Given the description of an element on the screen output the (x, y) to click on. 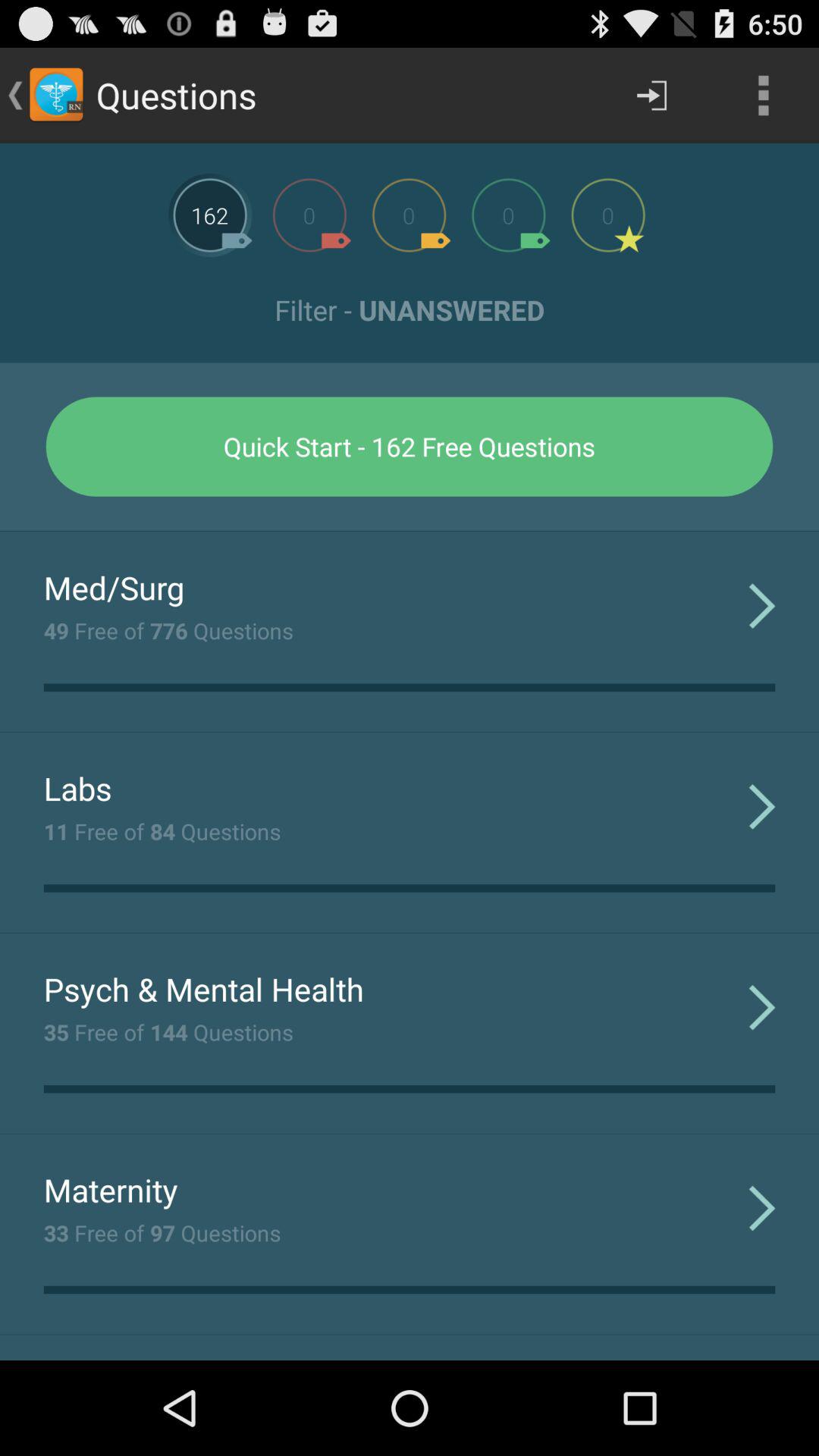
turn on the icon below quick start 162 icon (409, 530)
